Given the description of an element on the screen output the (x, y) to click on. 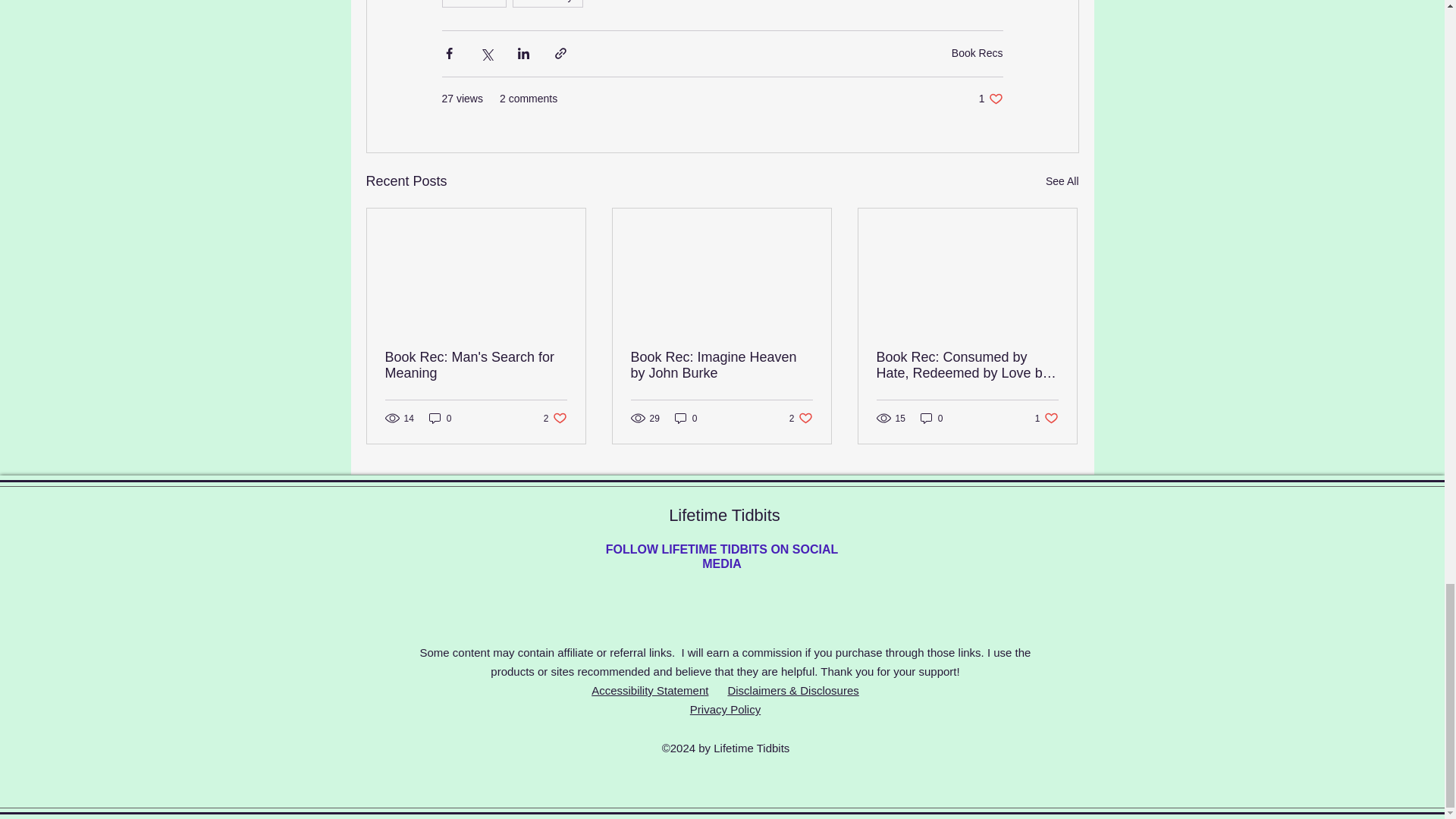
Book Rec: Imagine Heaven by John Burke (721, 365)
nonfiction (473, 3)
Book Rec: Man's Search for Meaning (800, 418)
0 (476, 365)
0 (555, 418)
Book Recs (990, 98)
See All (685, 418)
